Given the description of an element on the screen output the (x, y) to click on. 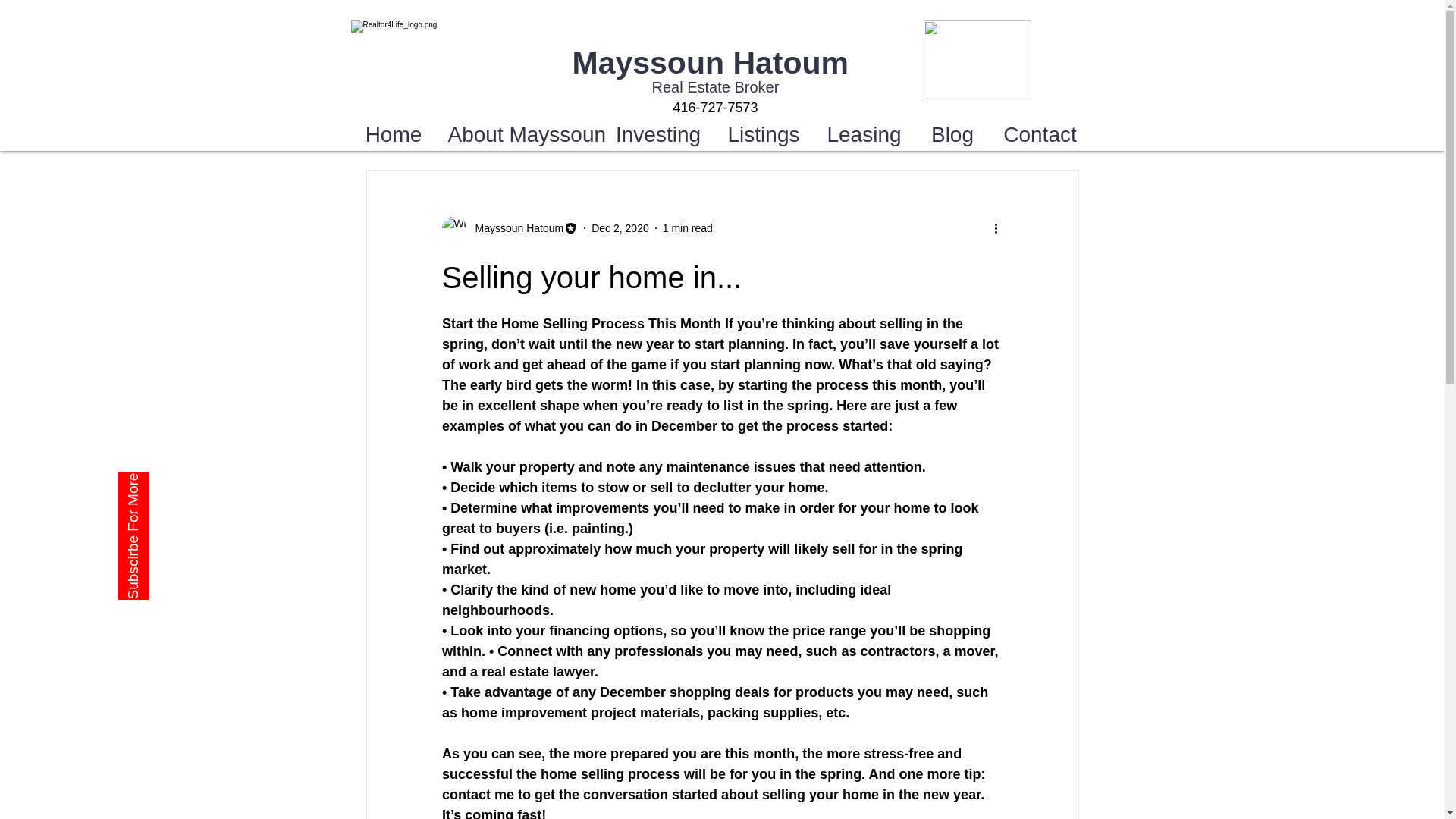
Contact (1039, 134)
Home (392, 134)
Leasing (863, 134)
Mayssoun Hatoum (710, 62)
About Mayssoun (520, 134)
Subscirbe For More (181, 486)
416-727-7573 (714, 107)
Mayssoun Hatoum (514, 227)
1 min read (687, 227)
Listings (763, 134)
Dec 2, 2020 (620, 227)
Blog (952, 134)
Investing (658, 134)
